Given the description of an element on the screen output the (x, y) to click on. 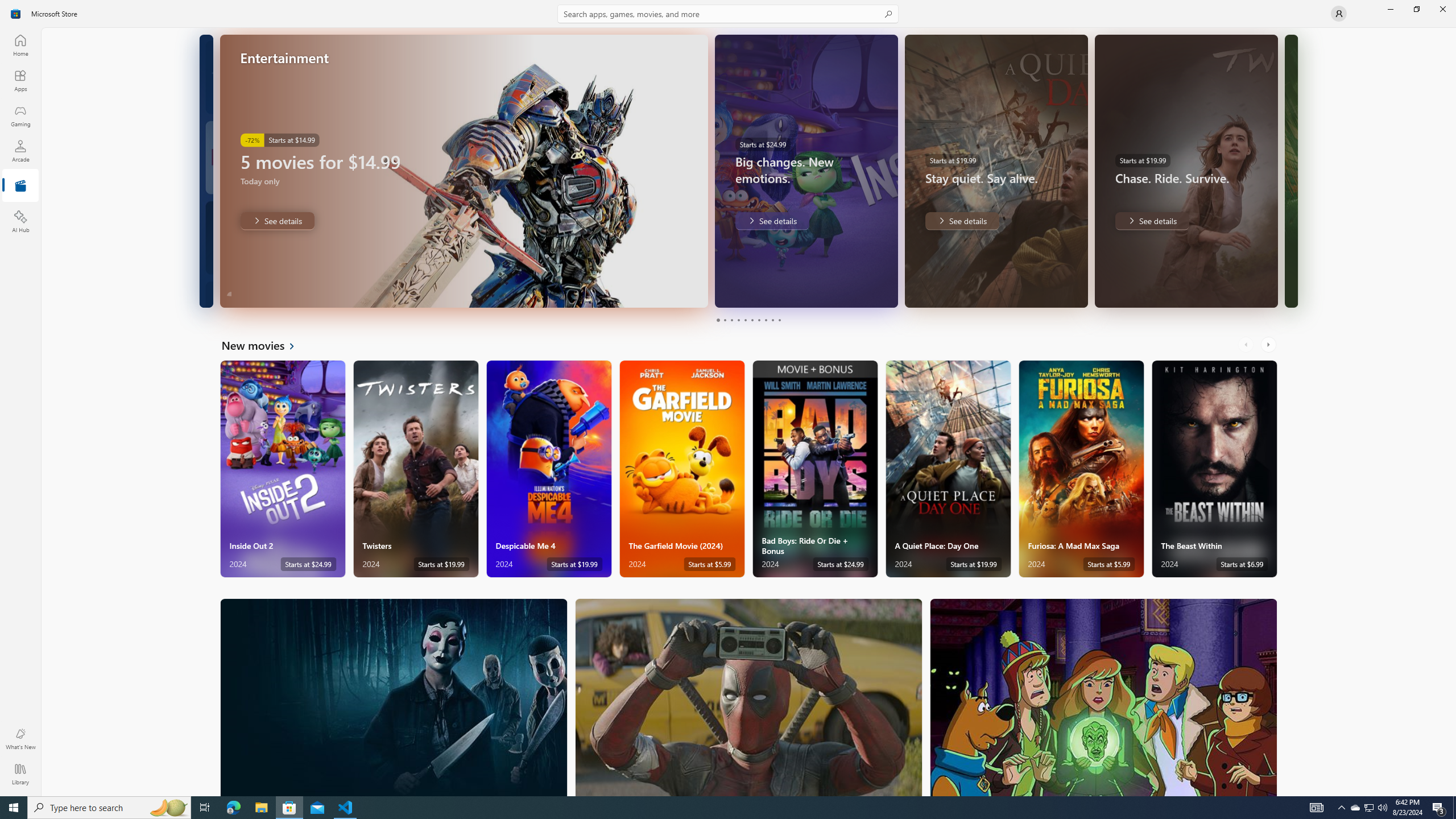
Page 2 (724, 319)
Apps (20, 80)
Horror (393, 697)
